Given the description of an element on the screen output the (x, y) to click on. 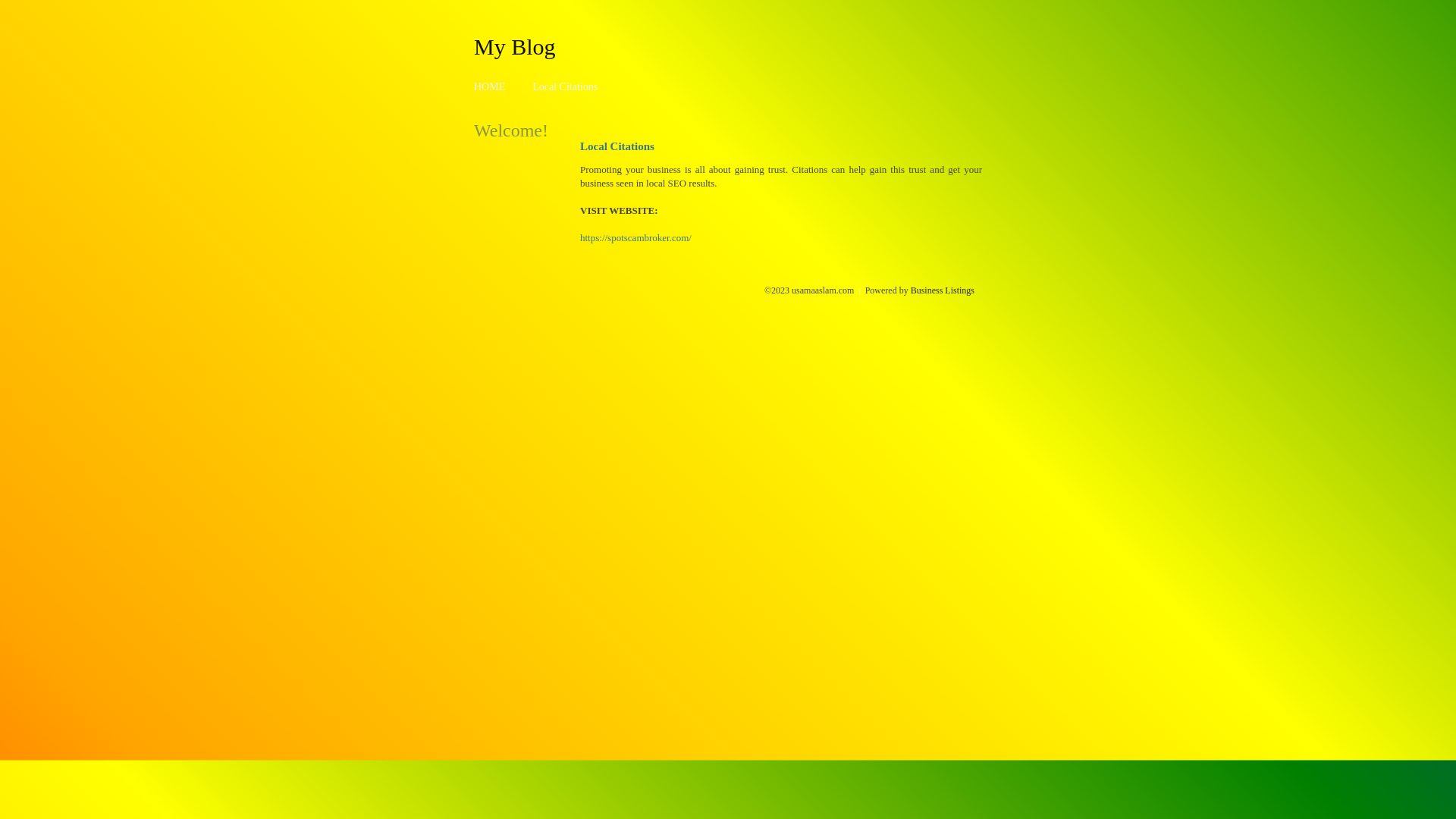
Local Citations Element type: text (564, 86)
My Blog Element type: text (514, 46)
https://spotscambroker.com/ Element type: text (635, 237)
Business Listings Element type: text (942, 290)
HOME Element type: text (489, 86)
